Given the description of an element on the screen output the (x, y) to click on. 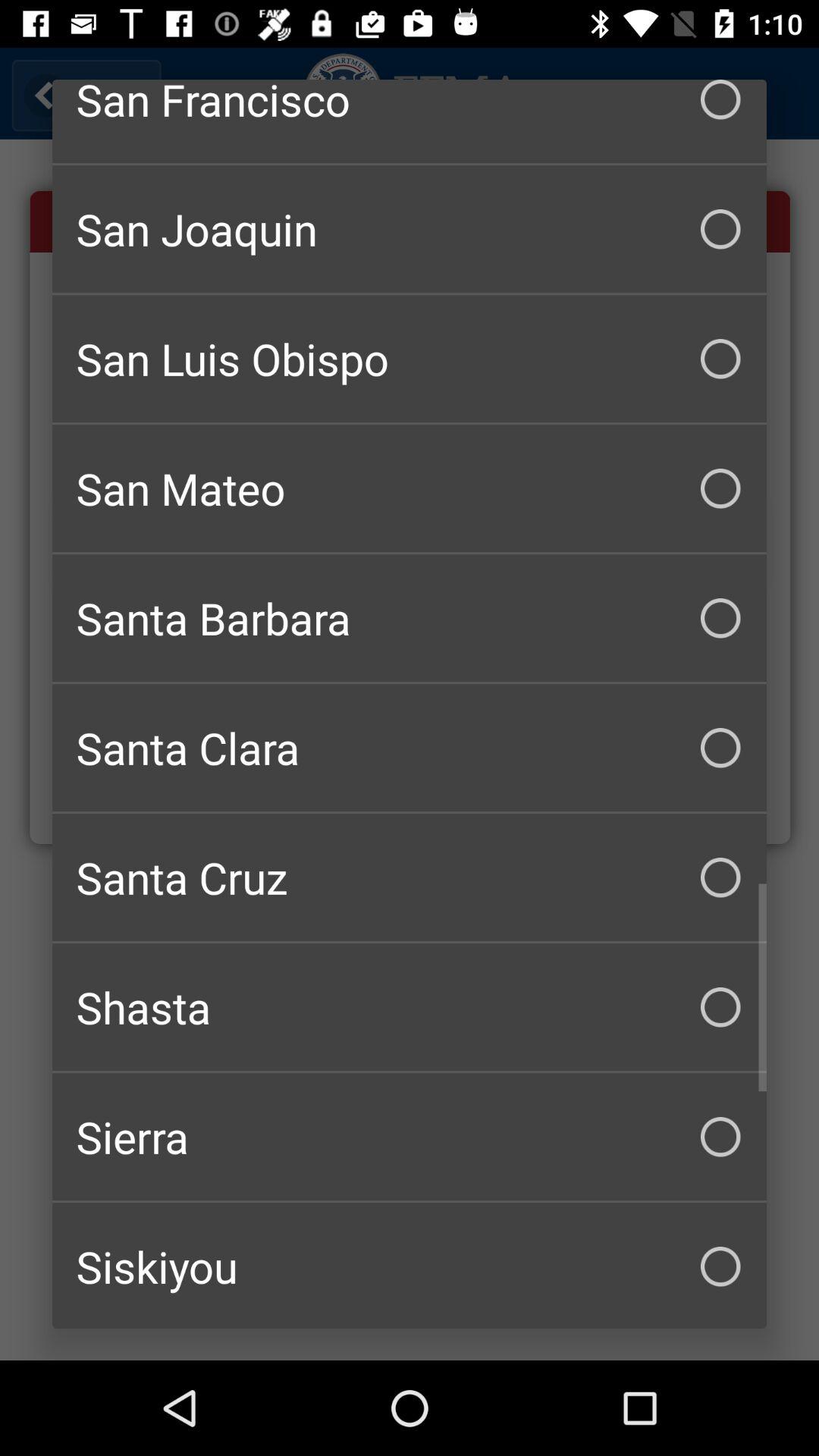
choose santa cruz icon (409, 877)
